Given the description of an element on the screen output the (x, y) to click on. 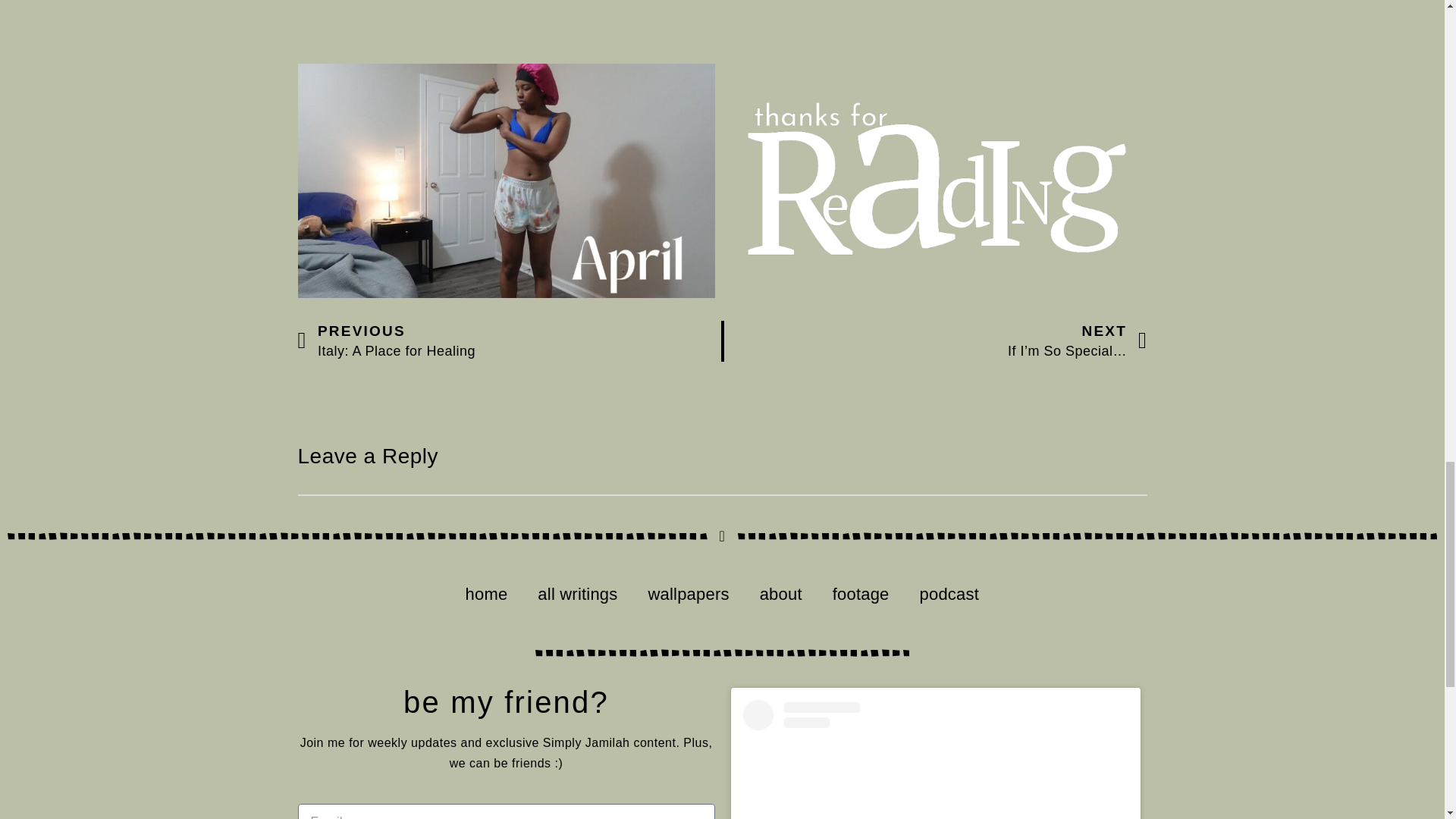
View this profile on Instagram (935, 759)
podcast (949, 594)
all writings (576, 594)
home (485, 594)
footage (860, 594)
about (508, 341)
wallpapers (780, 594)
